Given the description of an element on the screen output the (x, y) to click on. 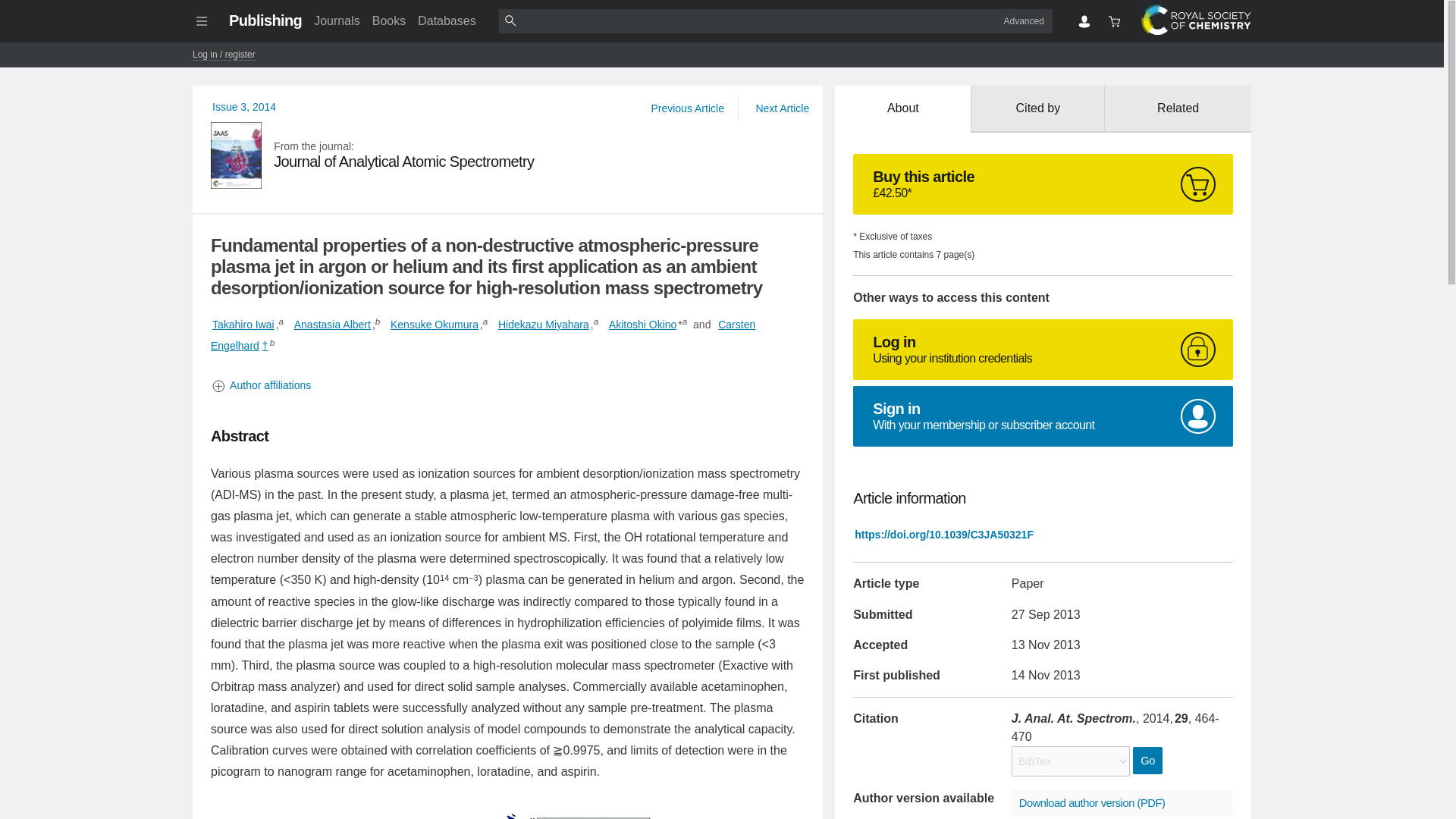
Kensuke Okumura (434, 324)
Advanced (1023, 20)
Databases (446, 20)
Journals (336, 20)
Go (1146, 759)
About (902, 108)
Issue 3, 2014 (244, 106)
Publishing home page (508, 155)
Akitoshi Okino (264, 20)
